Given the description of an element on the screen output the (x, y) to click on. 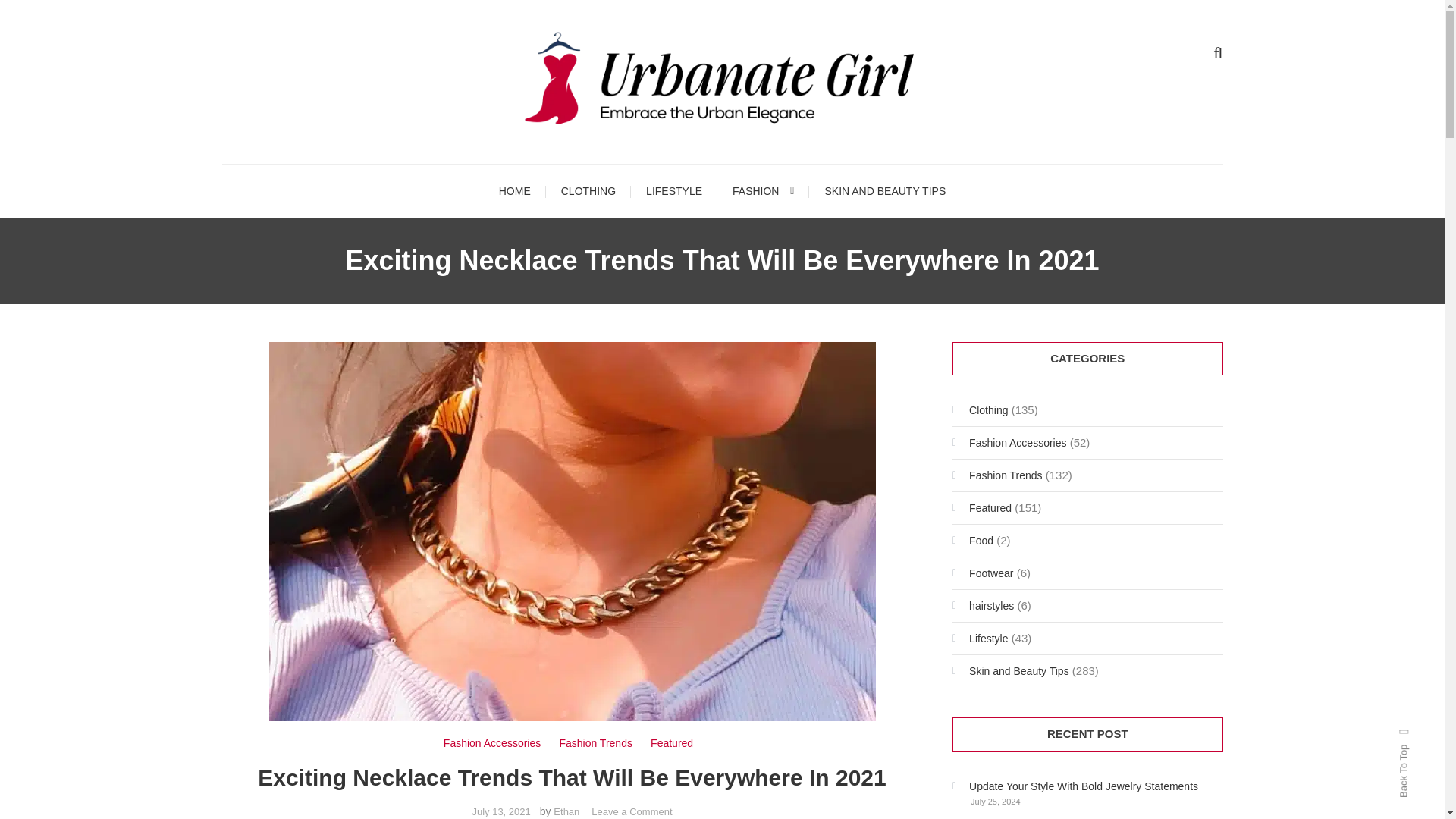
Search (768, 432)
Fashion Accessories (492, 742)
LIFESTYLE (673, 190)
SKIN AND BEAUTY TIPS (884, 190)
Ethan (566, 811)
HOME (514, 190)
FASHION (763, 190)
July 13, 2021 (500, 811)
CLOTHING (588, 190)
